Given the description of an element on the screen output the (x, y) to click on. 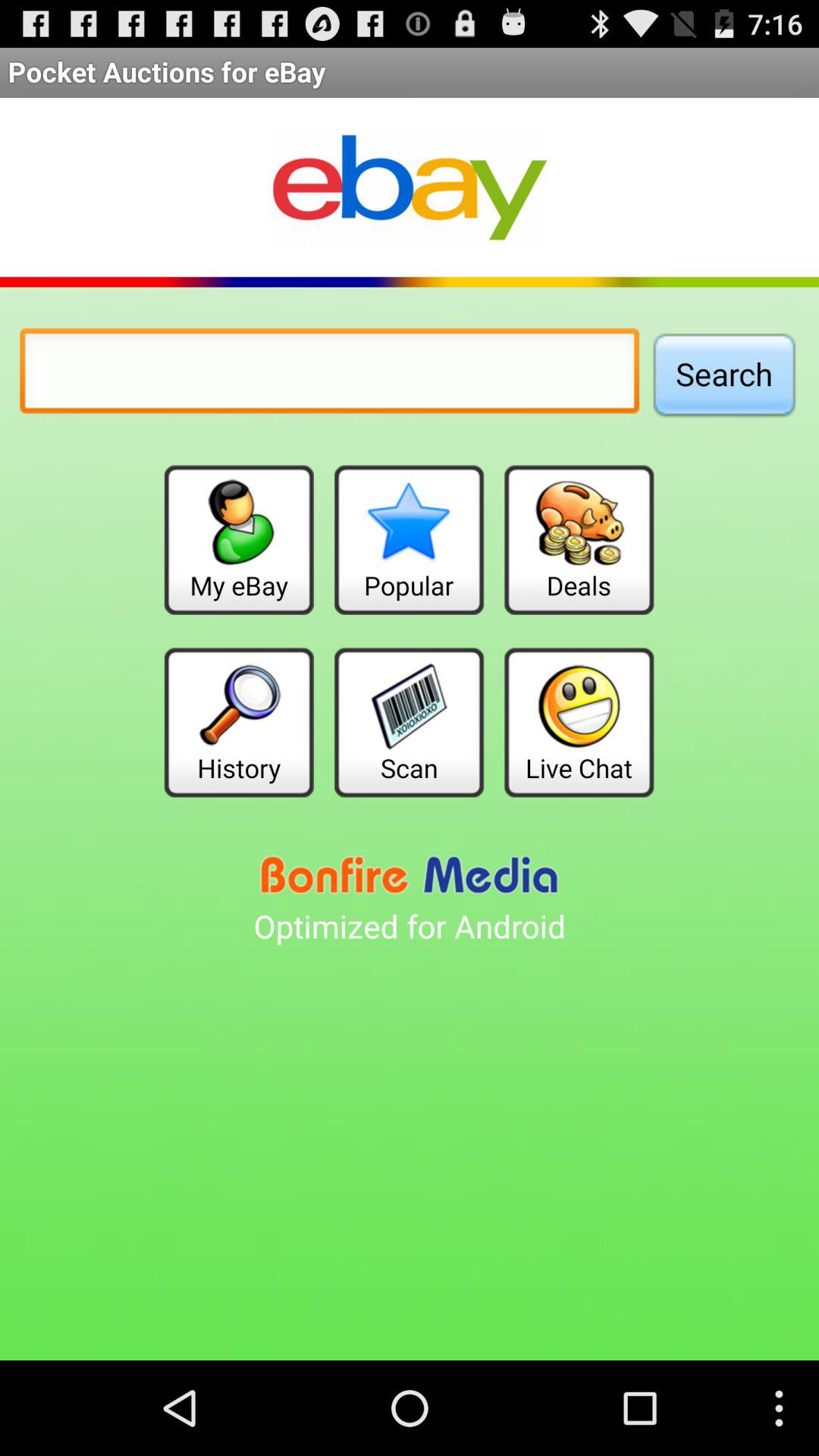
tap item to the right of the history button (409, 722)
